Given the description of an element on the screen output the (x, y) to click on. 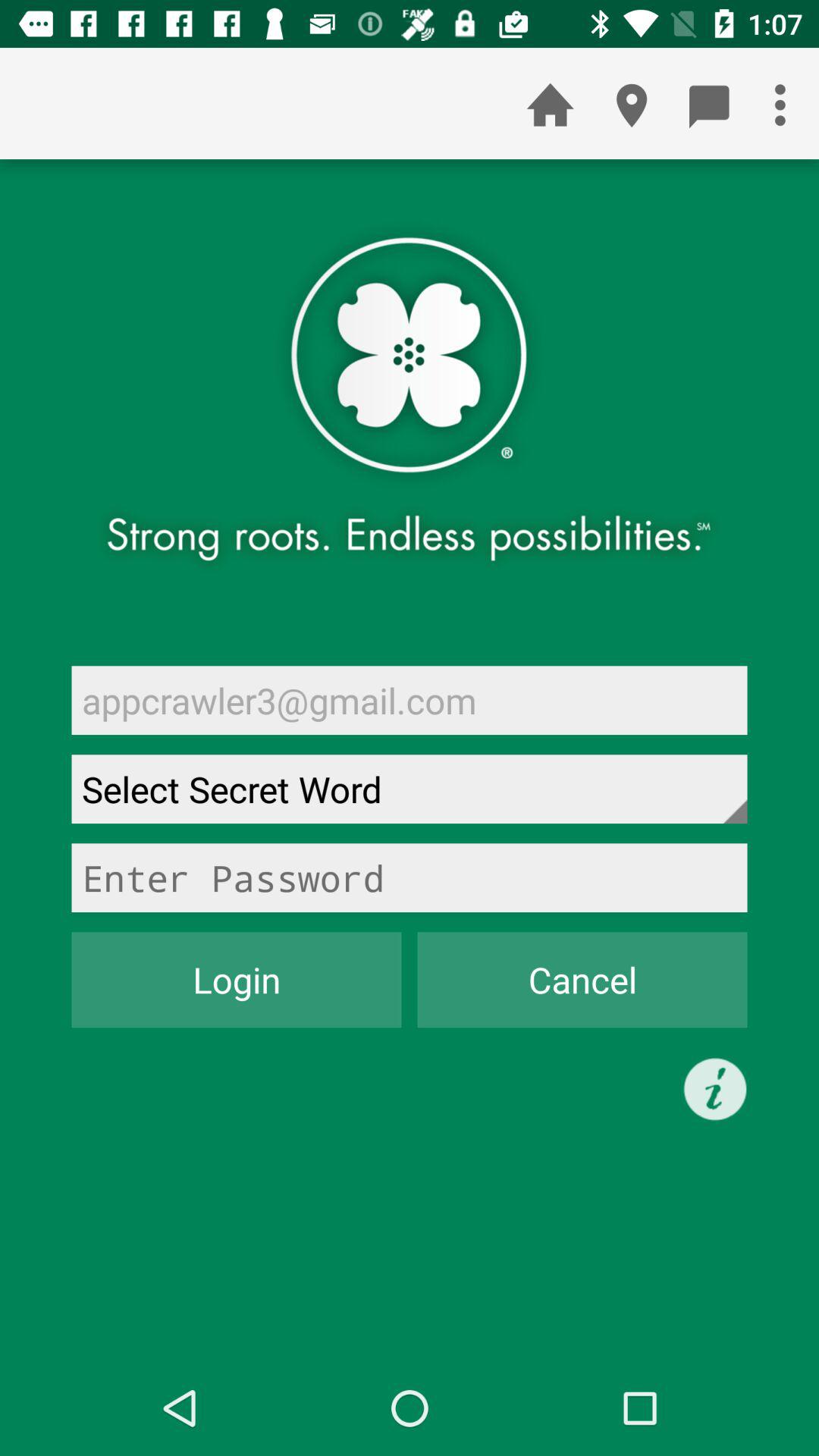
scroll until the cancel (582, 979)
